Given the description of an element on the screen output the (x, y) to click on. 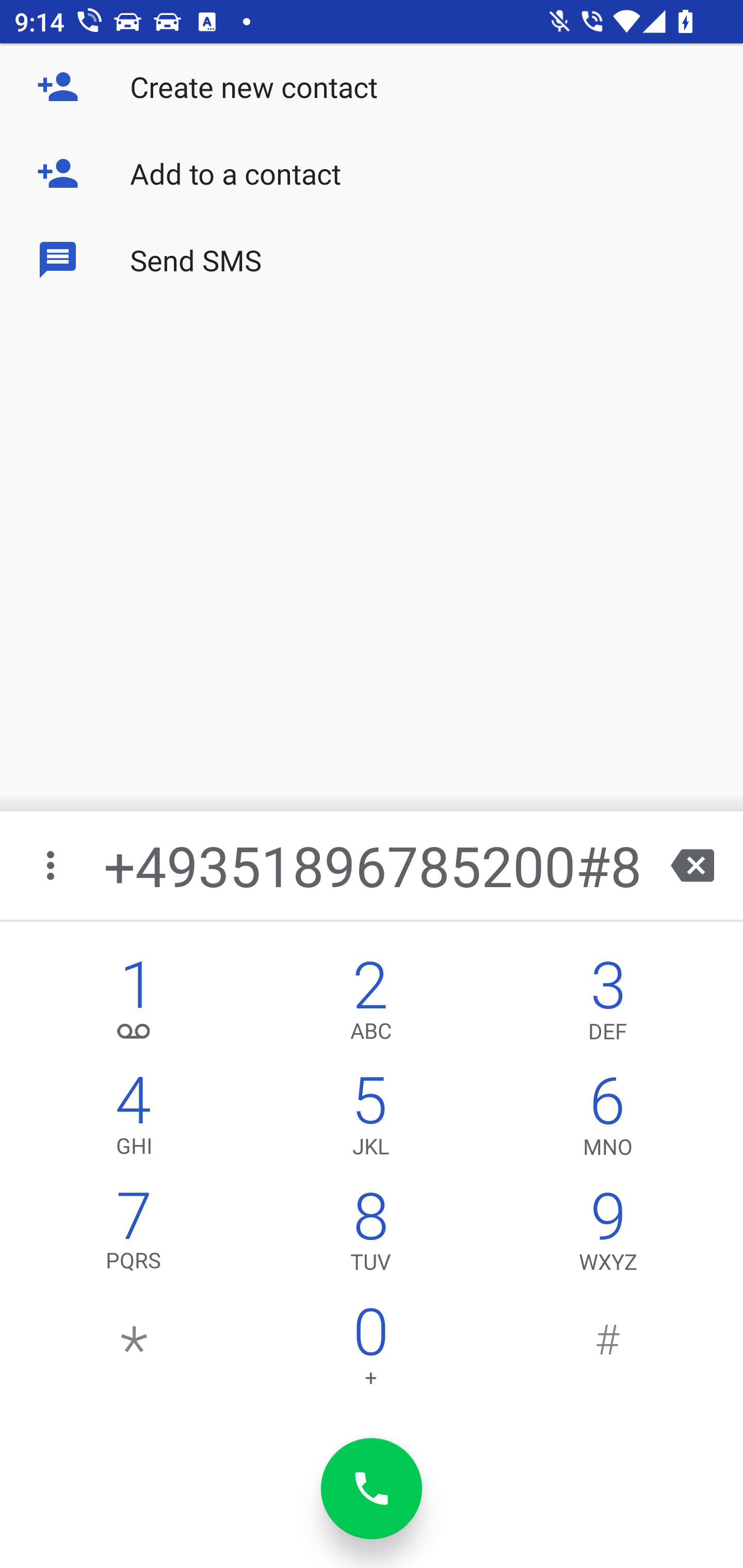
Create new contact (371, 86)
Add to a contact (371, 173)
Send SMS (371, 259)
+49351896785200#8 (372, 865)
backspace (692, 865)
More options (52, 865)
1, 1 (133, 1005)
2,ABC 2 ABC (370, 1005)
3,DEF 3 DEF (607, 1005)
4,GHI 4 GHI (133, 1120)
5,JKL 5 JKL (370, 1120)
6,MNO 6 MNO (607, 1120)
7,PQRS 7 PQRS (133, 1235)
8,TUV 8 TUV (370, 1235)
9,WXYZ 9 WXYZ (607, 1235)
* (133, 1351)
0 0 + (370, 1351)
# (607, 1351)
dial (371, 1488)
